Given the description of an element on the screen output the (x, y) to click on. 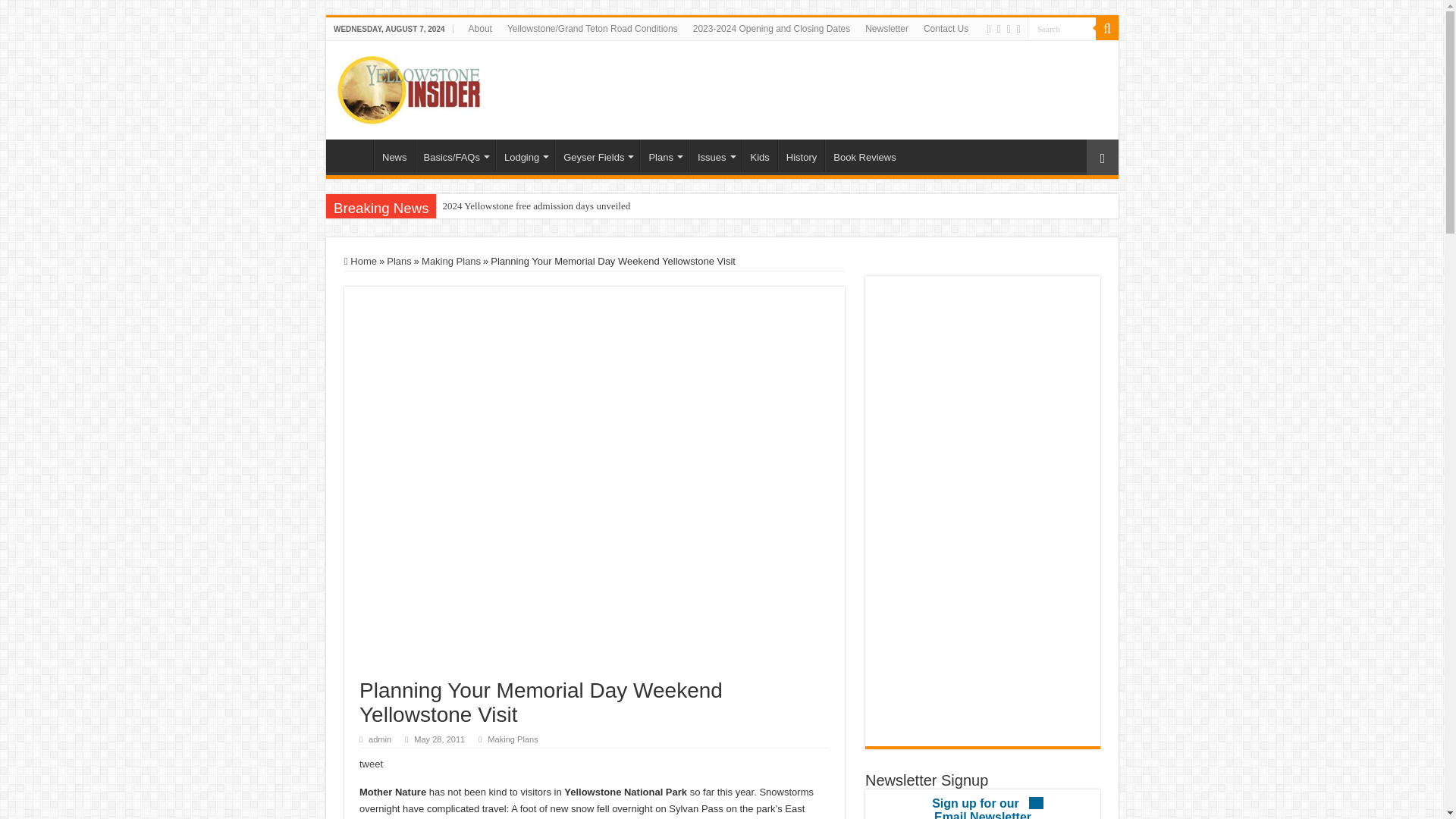
Lodging (525, 155)
2024 Yellowstone free admission days unveiled (576, 206)
About (480, 28)
Home (352, 155)
Search (1061, 28)
Search (1107, 28)
Newsletter (886, 28)
News (394, 155)
Contact Us (945, 28)
2023-2024 Opening and Closing Dates (771, 28)
